Given the description of an element on the screen output the (x, y) to click on. 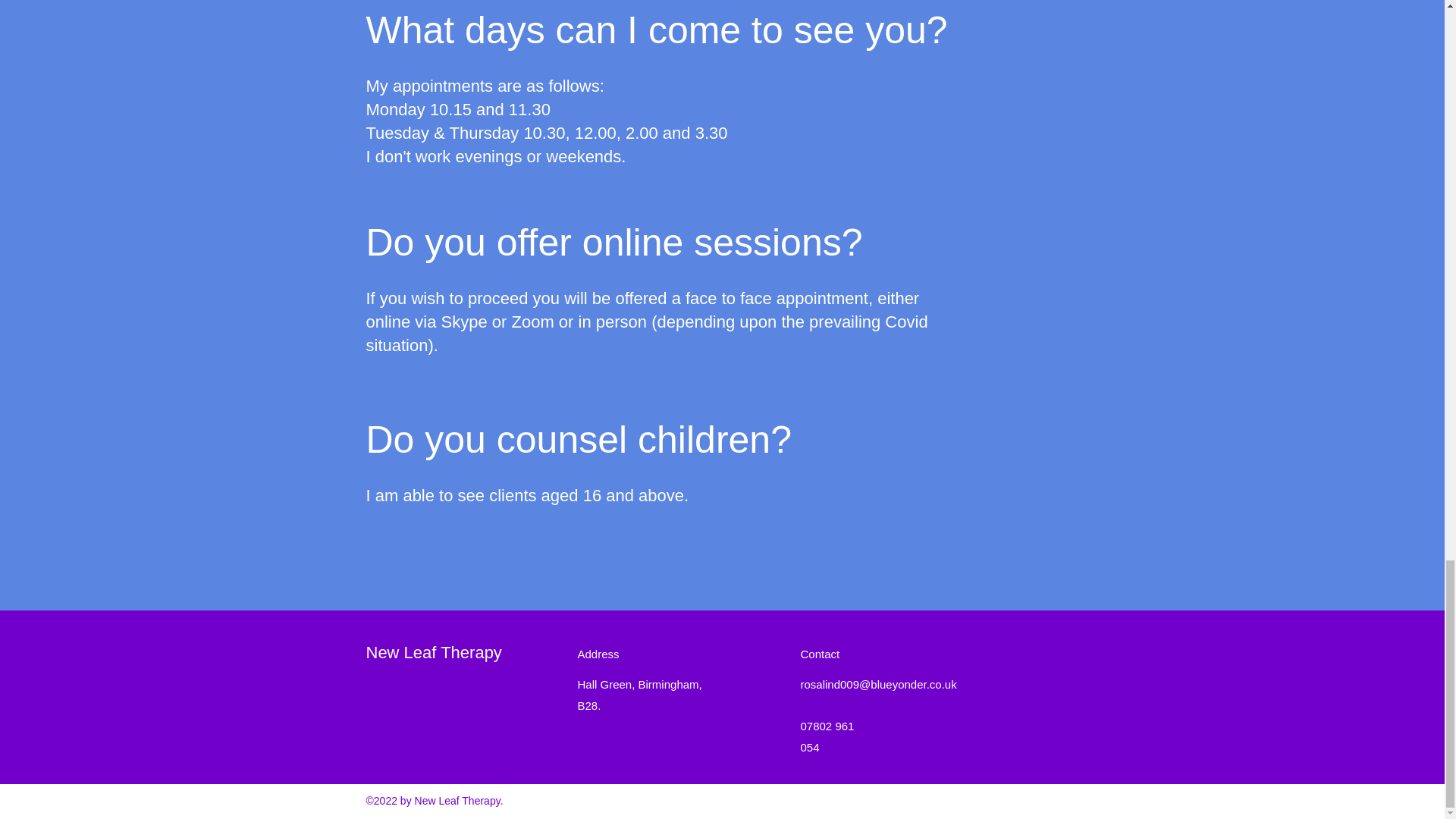
New Leaf Therapy (432, 651)
